Given the description of an element on the screen output the (x, y) to click on. 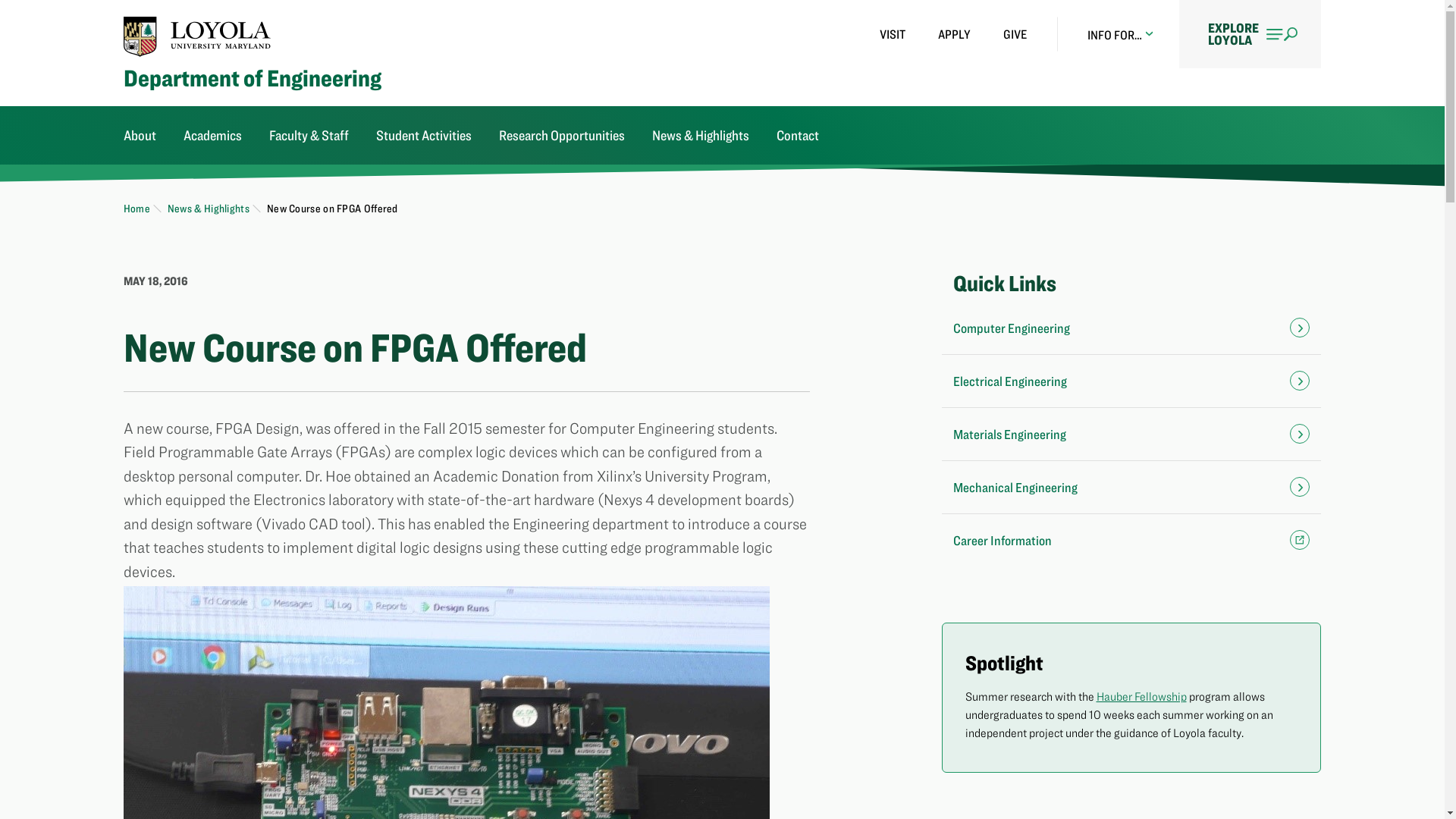
EXPLORE LOYOLA (1249, 33)
GIVE (1015, 34)
Logo (196, 35)
VISIT (892, 34)
APPLY (954, 34)
